Given the description of an element on the screen output the (x, y) to click on. 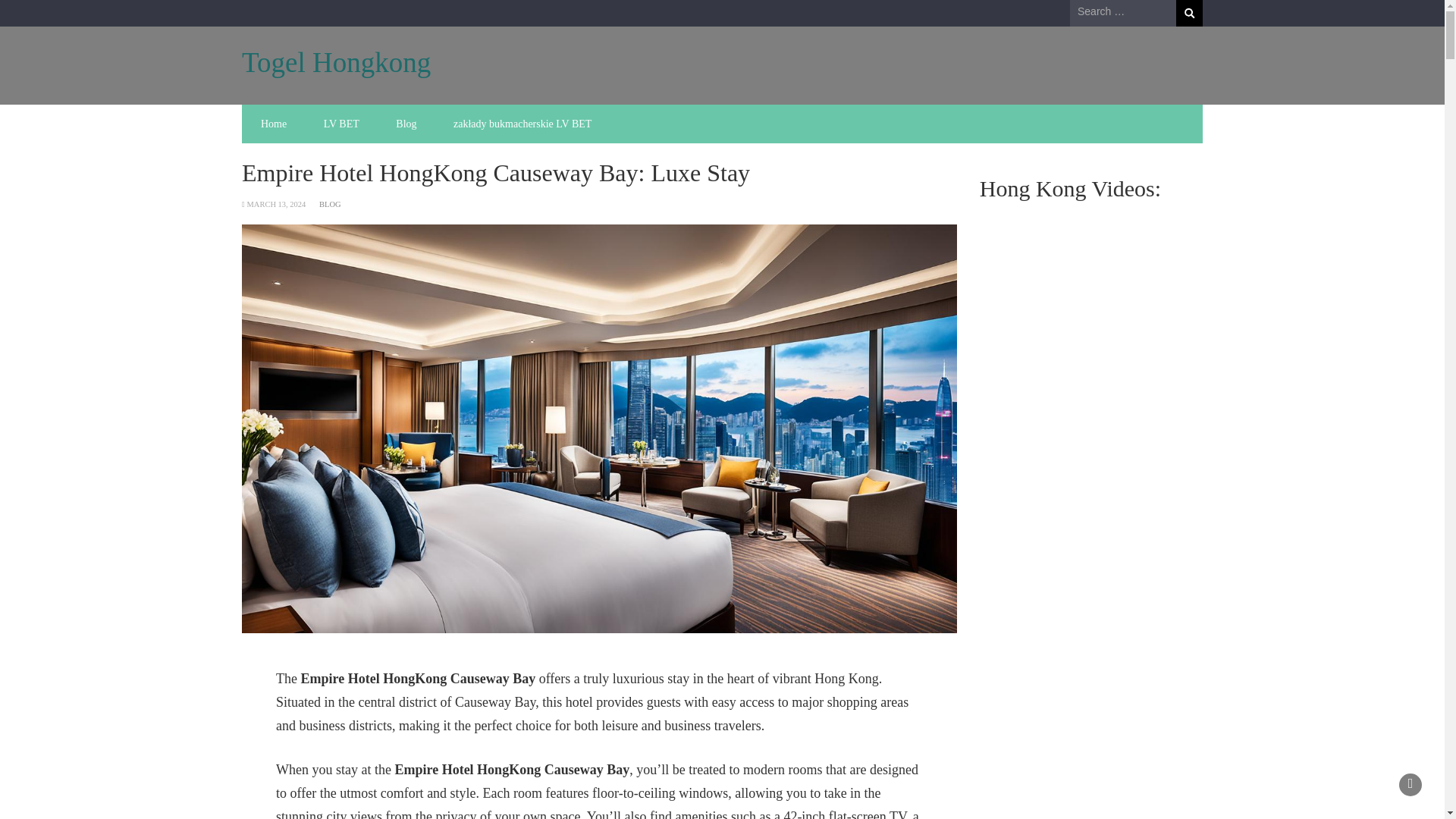
Hidden Reality: Life in Hong Kong's Cage Homes. (1090, 295)
BLOG (329, 203)
Dark Side of Hong Kong: The Real Life Dystopia (1090, 762)
Togel Hongkong (335, 61)
LV BET (341, 123)
Search (1189, 13)
MARCH 13, 2024 (275, 203)
Blog (405, 123)
Search (1189, 13)
Search (1189, 13)
